Given the description of an element on the screen output the (x, y) to click on. 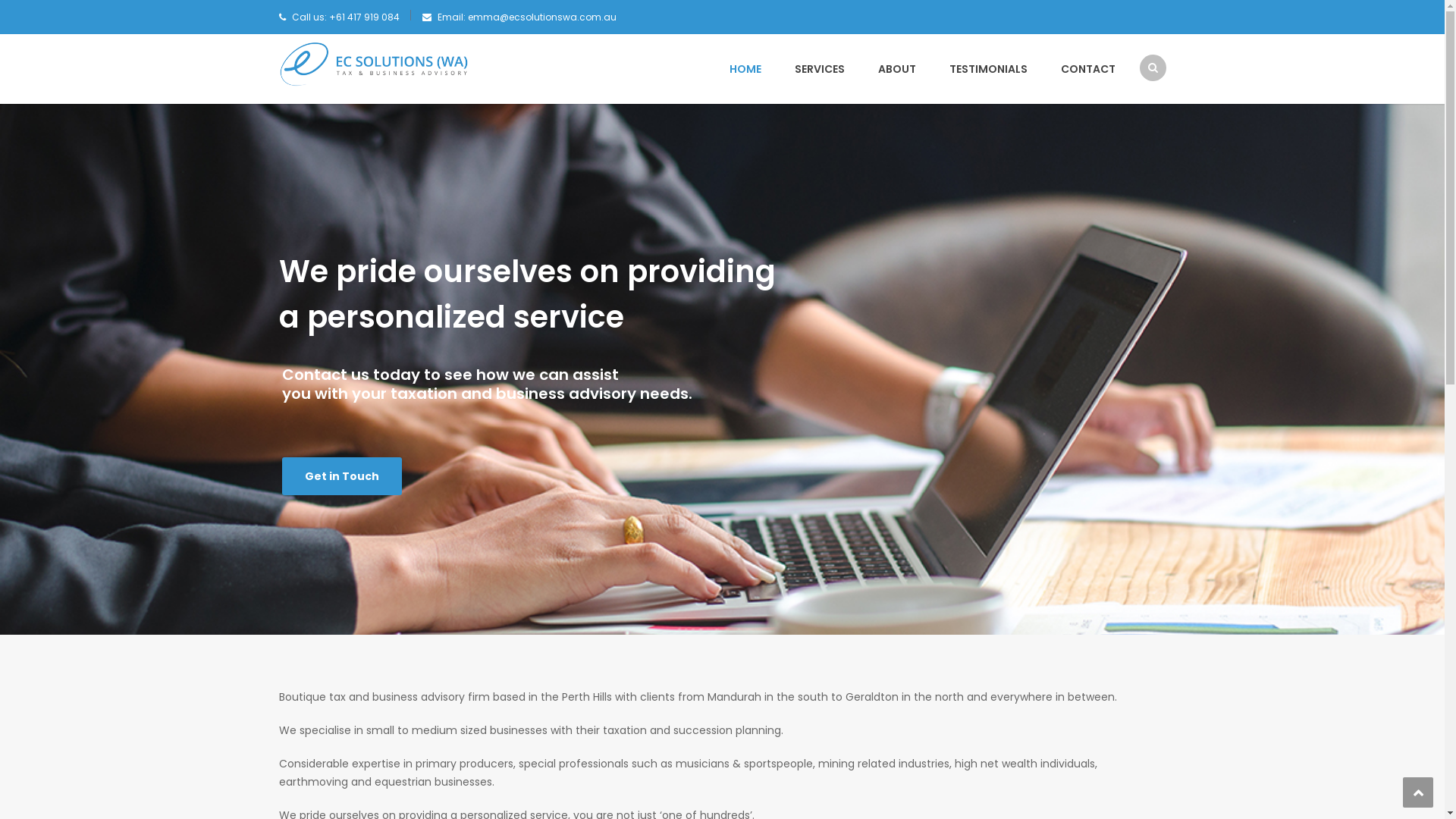
ABOUT Element type: text (896, 68)
TESTIMONIALS Element type: text (988, 68)
EC Solutions (WA) Element type: hover (373, 63)
CONTACT Element type: text (1079, 68)
SERVICES Element type: text (819, 68)
HOME Element type: text (745, 68)
Search Element type: text (1144, 126)
